Given the description of an element on the screen output the (x, y) to click on. 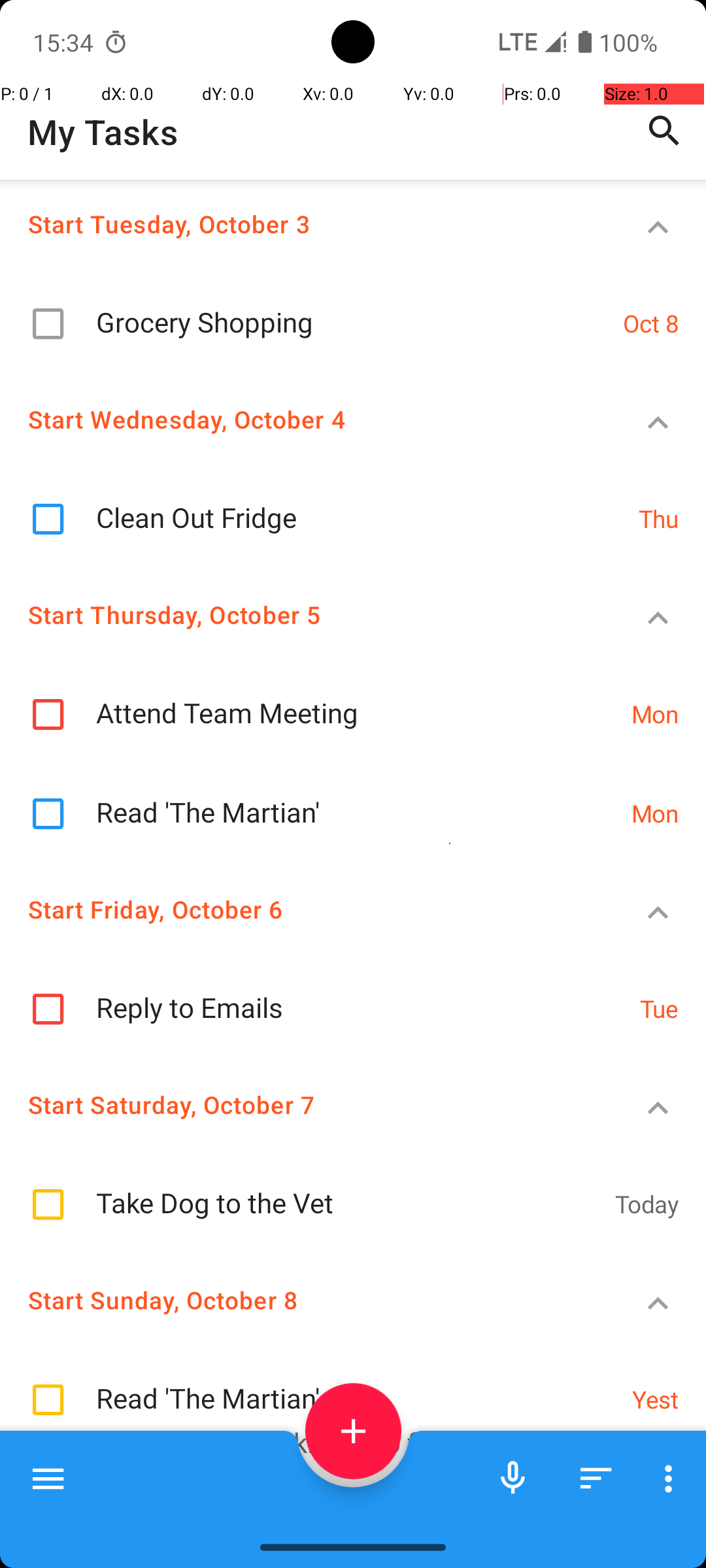
Start Tuesday, October 3 Element type: android.widget.TextView (304, 223)
Start Wednesday, October 4 Element type: android.widget.TextView (304, 419)
Start Thursday, October 5 Element type: android.widget.TextView (304, 614)
Start Friday, October 6 Element type: android.widget.TextView (304, 909)
Start Saturday, October 7 Element type: android.widget.TextView (304, 1104)
Start Sunday, October 8 Element type: android.widget.TextView (304, 1299)
